Given the description of an element on the screen output the (x, y) to click on. 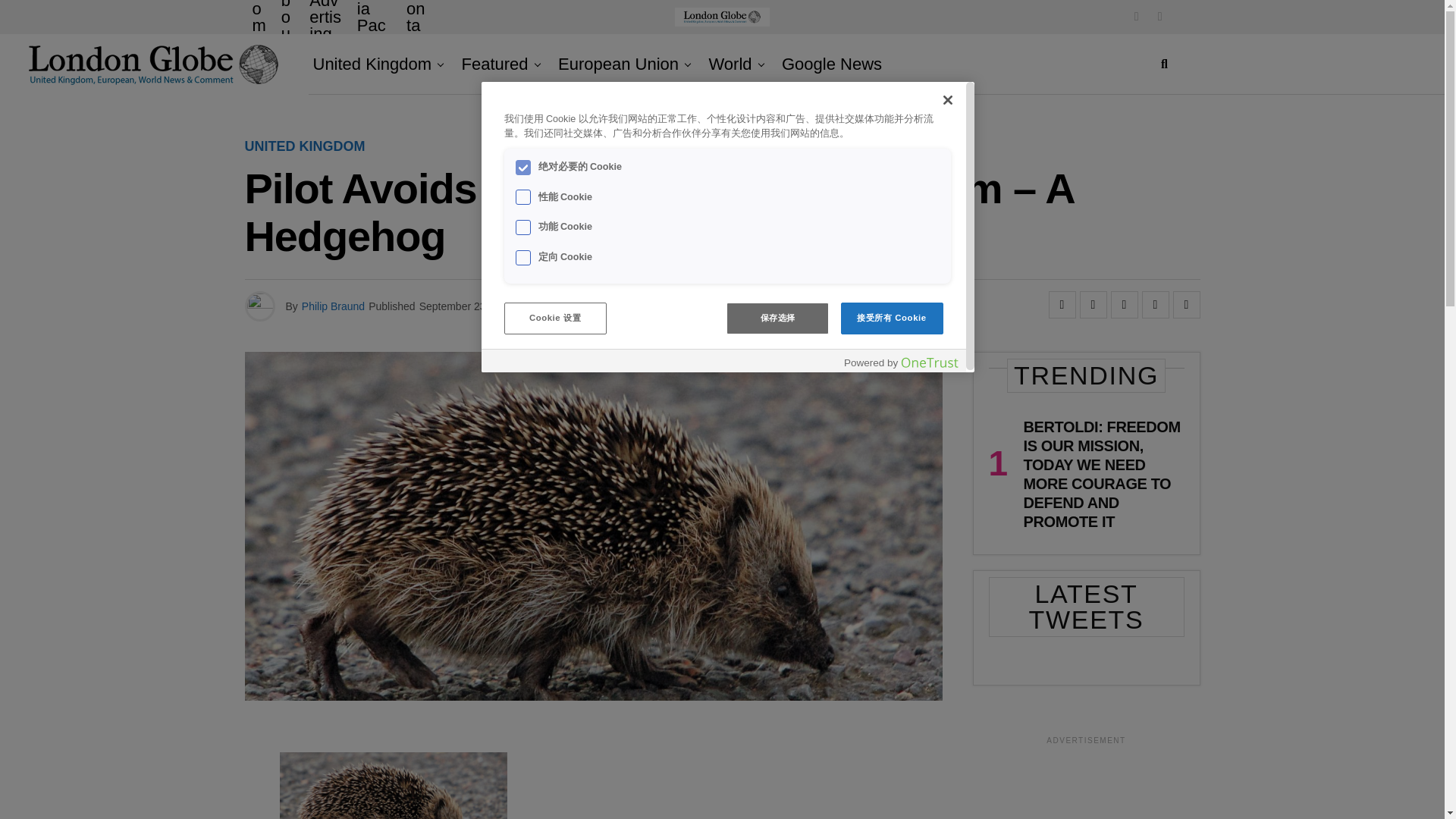
World (729, 64)
European Union (617, 64)
Posts by Philip Braund (333, 306)
Advertisement (1085, 785)
Share on Facebook (1061, 304)
United Kingdom (376, 64)
Tweet This Post (1093, 304)
Featured (493, 64)
